Given the description of an element on the screen output the (x, y) to click on. 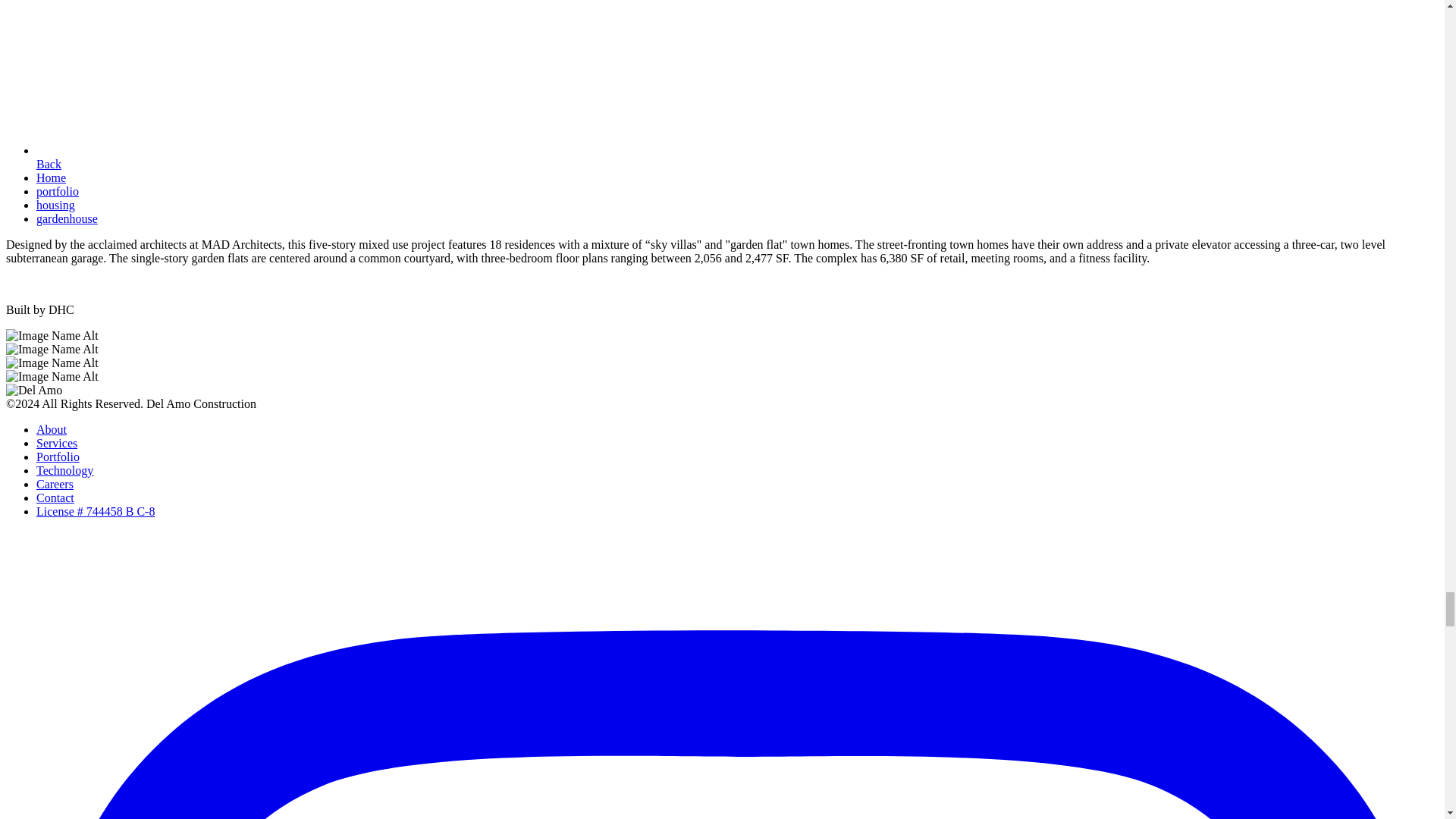
Services (56, 442)
Home (50, 177)
Technology (64, 470)
housing (55, 205)
About (51, 429)
Portfolio (58, 456)
Careers (55, 483)
Contact (55, 497)
portfolio (57, 191)
gardenhouse (66, 218)
